Given the description of an element on the screen output the (x, y) to click on. 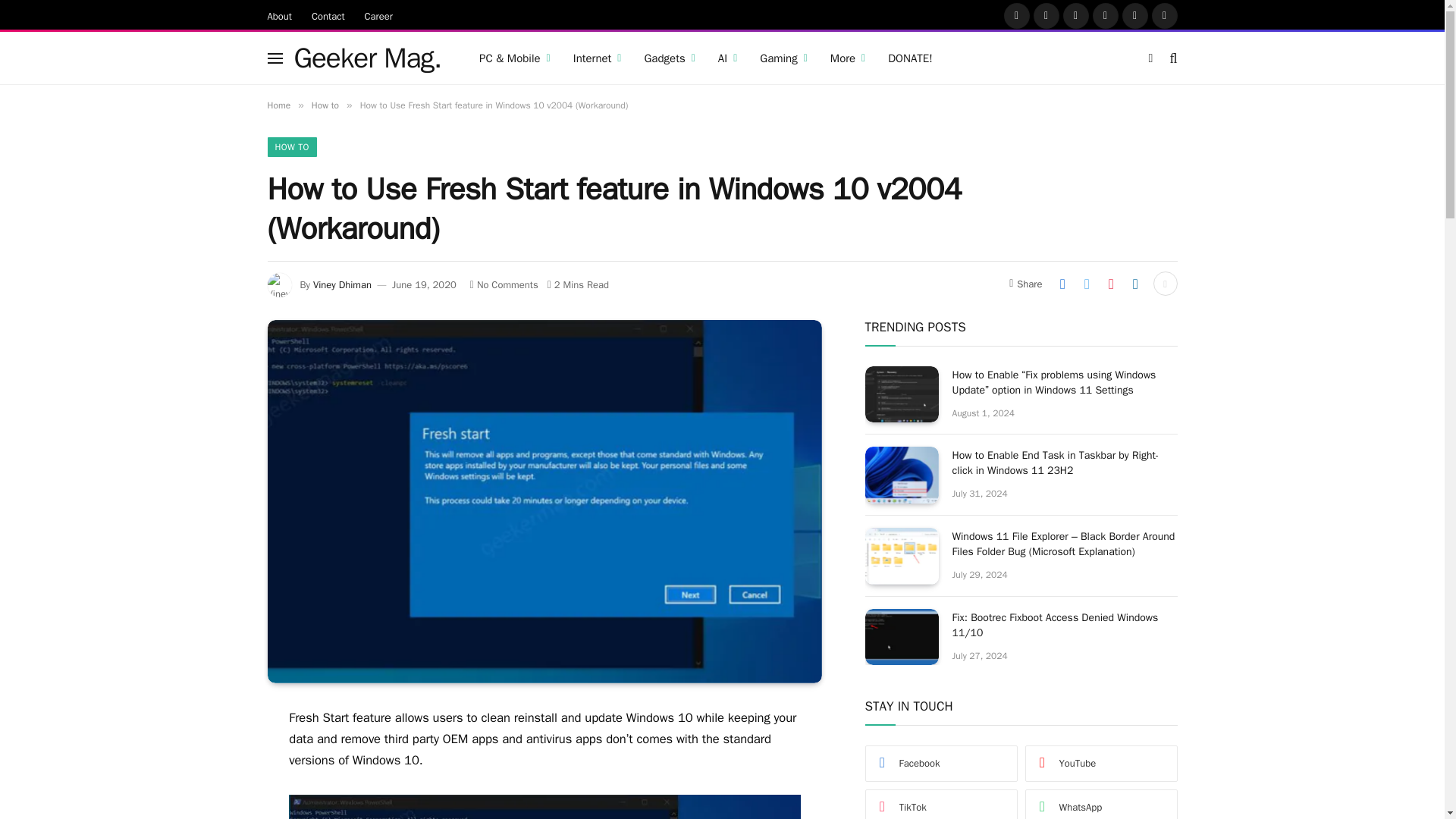
Contact (328, 15)
Geeker Mag. (368, 57)
About (279, 15)
Geeker Mag. (368, 57)
Instagram (1075, 15)
Career (379, 15)
Pinterest (1105, 15)
LinkedIn (1135, 15)
Facebook (1016, 15)
WhatsApp (1163, 15)
